Given the description of an element on the screen output the (x, y) to click on. 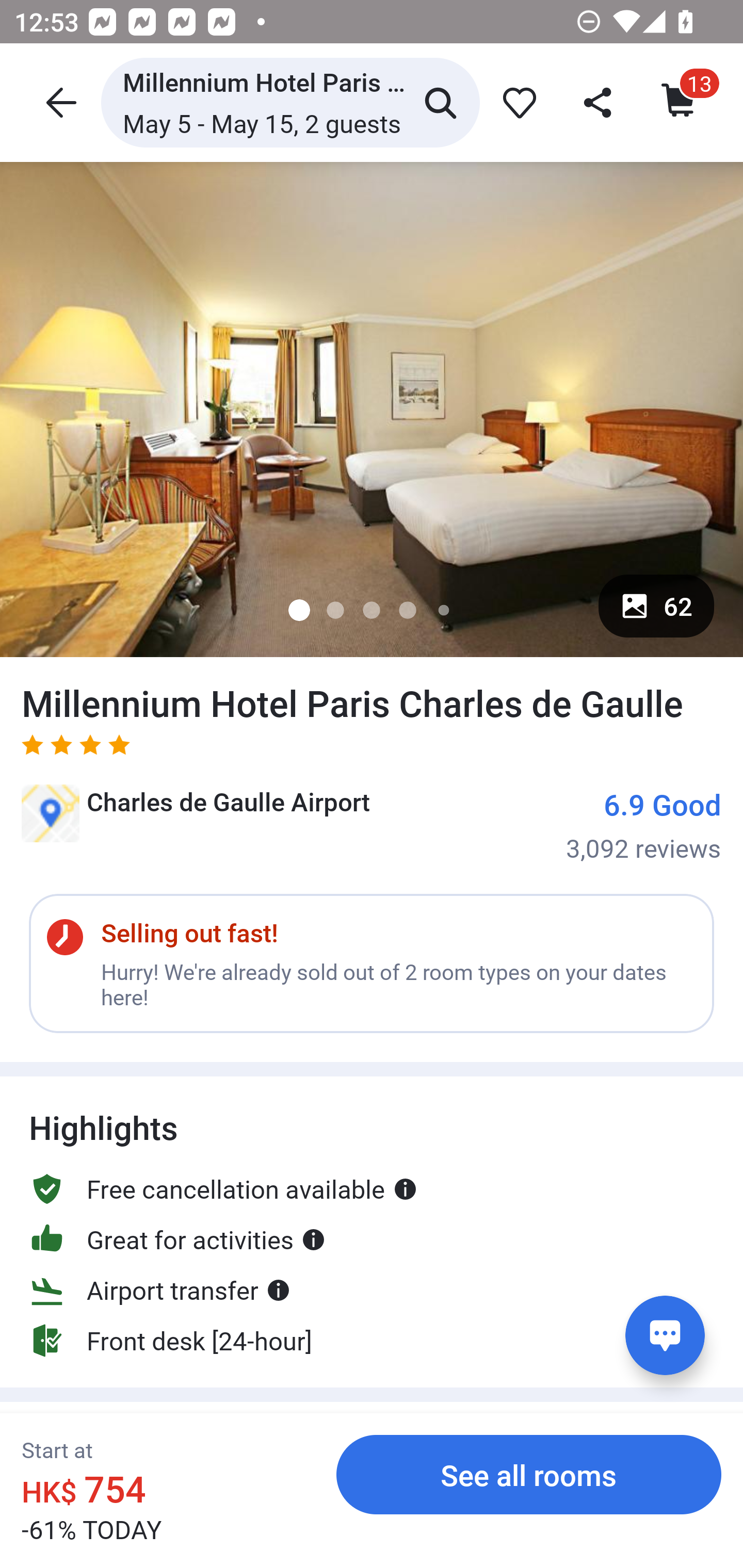
header icon (59, 102)
favorite_icon 0dbe6efb (515, 102)
share_header_icon (598, 102)
Cart icon cart_item_count 13 (679, 102)
image (371, 408)
62 (656, 605)
Charles de Gaulle Airport (195, 819)
6.9 Good 3,092 reviews (643, 824)
Free cancellation available (222, 1189)
Great for activities (177, 1239)
Airport transfer (159, 1289)
See all rooms (528, 1474)
